Given the description of an element on the screen output the (x, y) to click on. 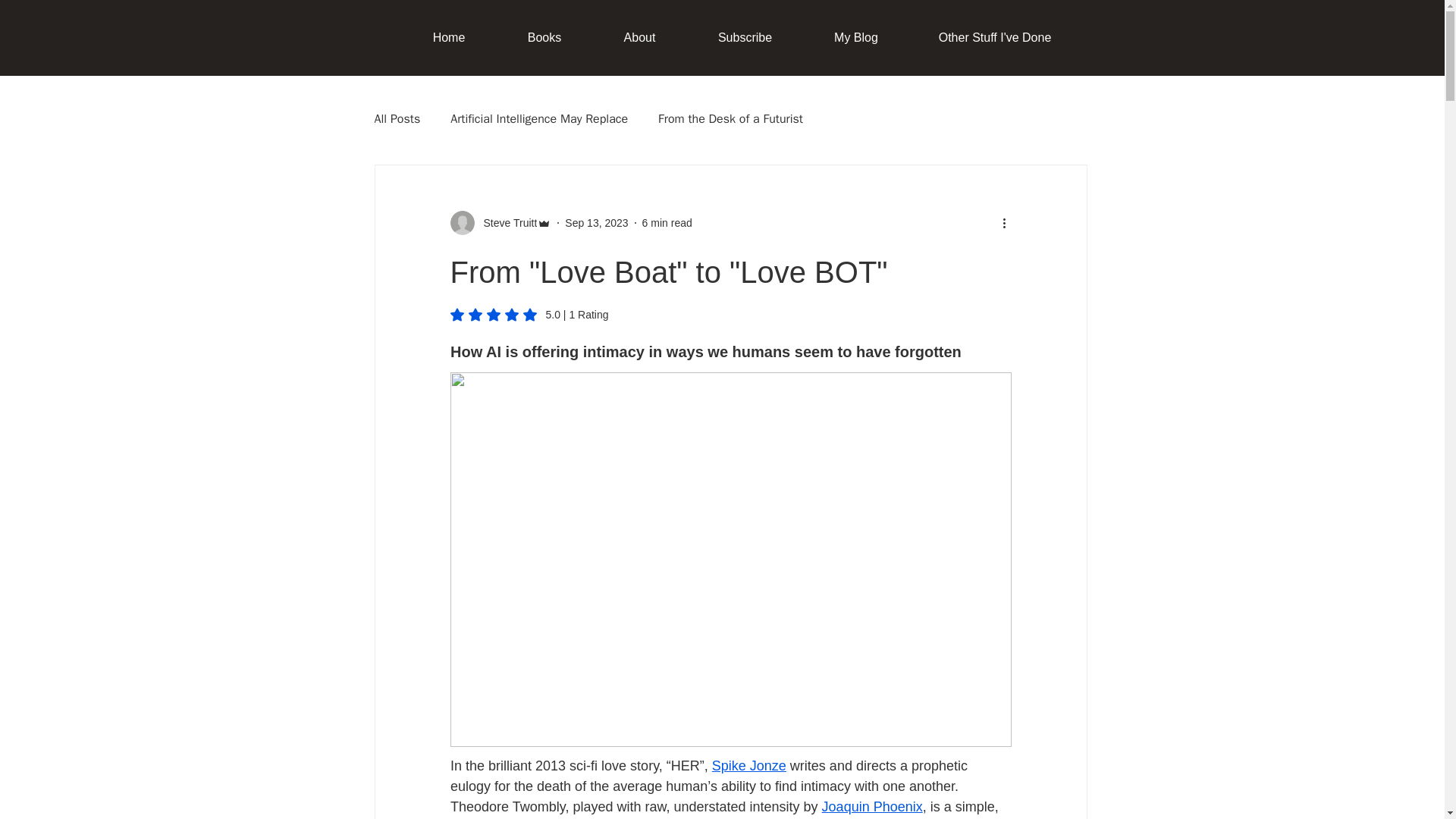
All Posts (397, 118)
From the Desk of a Futurist (730, 118)
Artificial Intelligence May Replace (538, 118)
About (639, 37)
Steve Truitt (505, 222)
6 min read (667, 223)
Home (448, 37)
Other Stuff I've Done (994, 37)
My Blog (855, 37)
Joaquin Phoenix (871, 806)
Books (544, 37)
Steve Truitt (500, 222)
Subscribe (745, 37)
Sep 13, 2023 (595, 223)
Spike Jonze (748, 765)
